Given the description of an element on the screen output the (x, y) to click on. 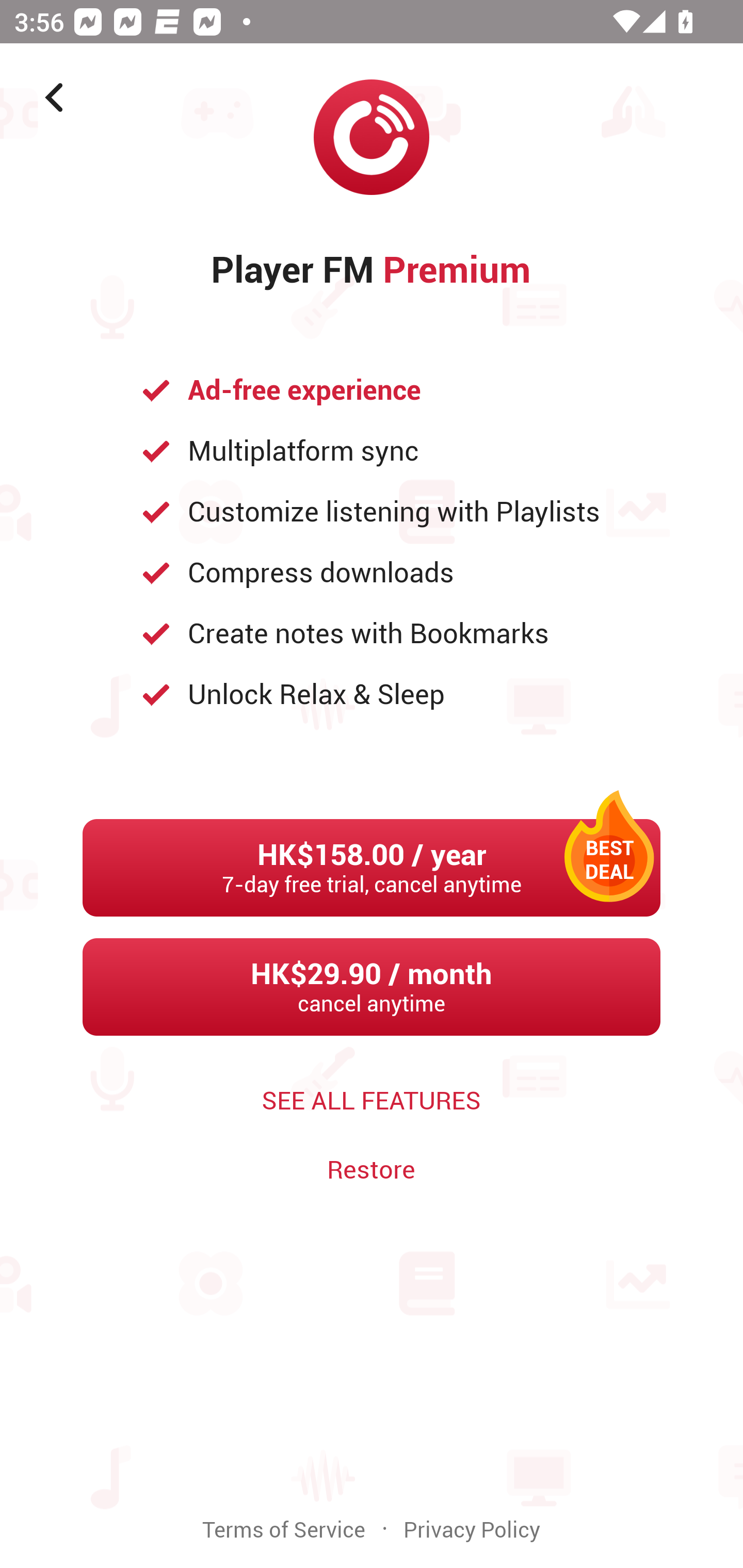
Upgrade HK$29.90 / month cancel anytime (371, 986)
SEE ALL FEATURES (371, 1101)
Restore (370, 1170)
Terms of Service (283, 1530)
Privacy Policy (471, 1530)
